Given the description of an element on the screen output the (x, y) to click on. 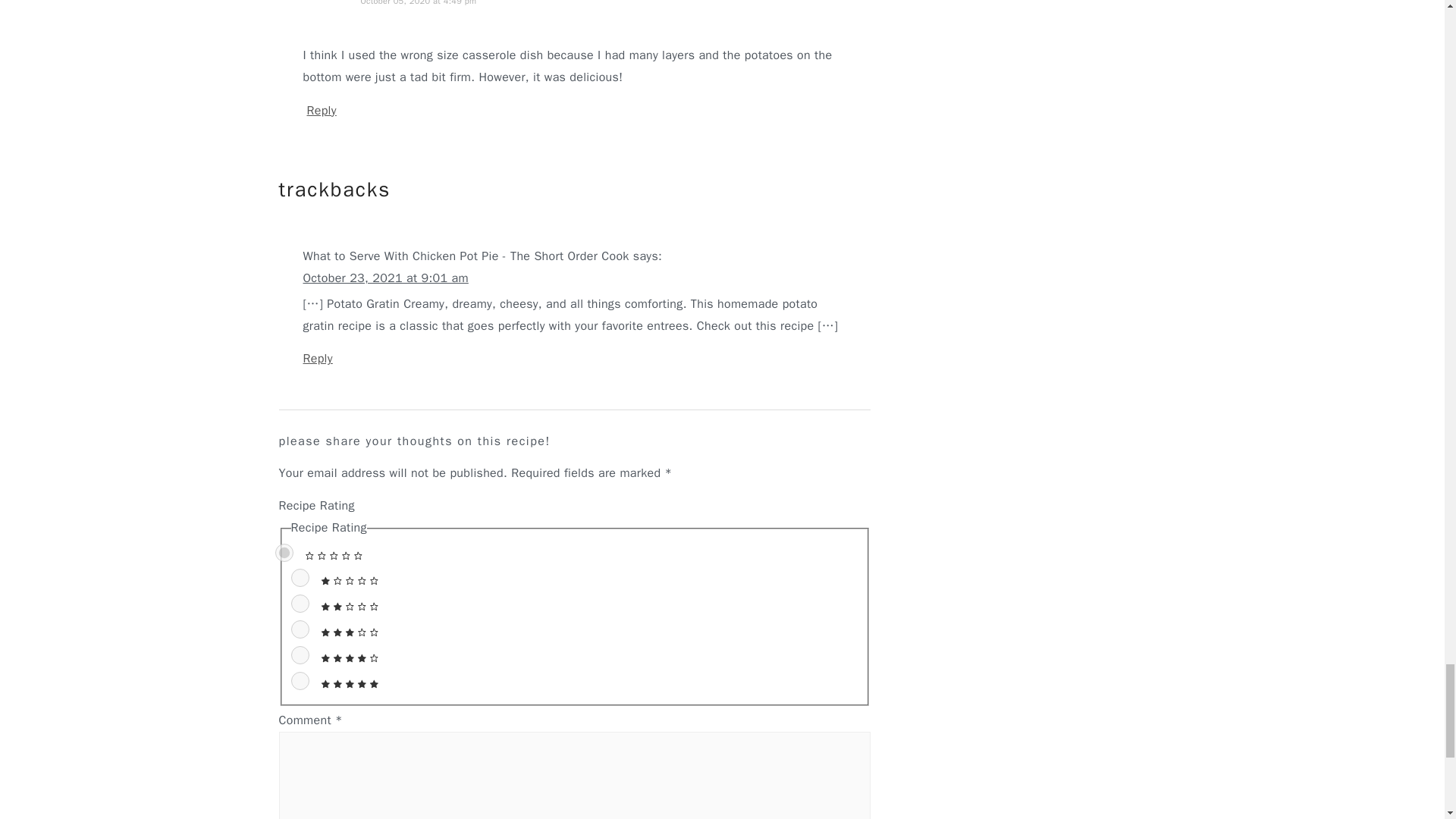
4 (299, 655)
1 (299, 577)
3 (299, 628)
2 (299, 603)
5 (299, 680)
0 (283, 552)
